Given the description of an element on the screen output the (x, y) to click on. 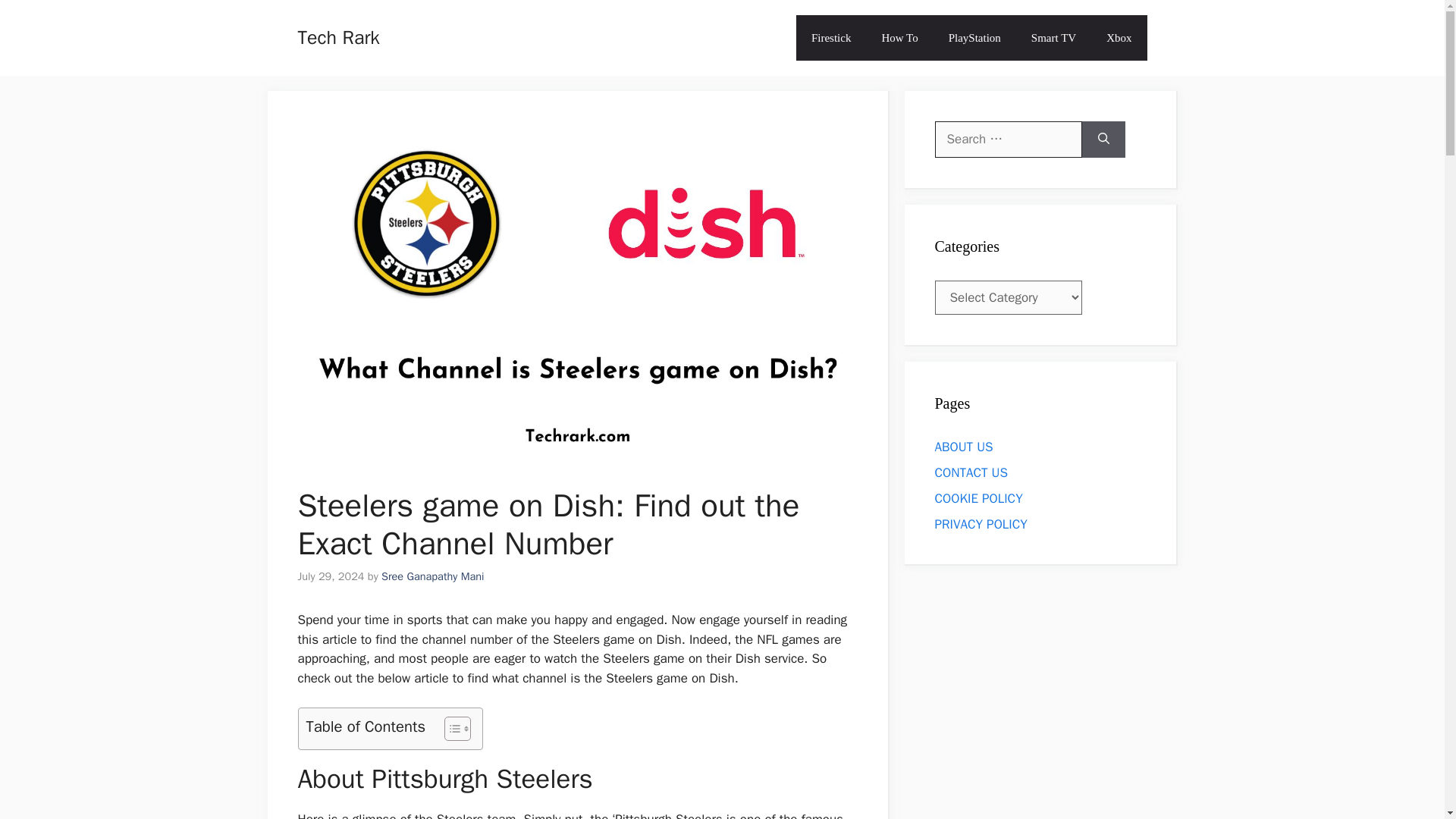
Firestick (831, 37)
PlayStation (974, 37)
CONTACT US (970, 471)
Tech Rark (337, 37)
View all posts by Sree Ganapathy Mani (432, 576)
Smart TV (1053, 37)
How To (899, 37)
Xbox (1118, 37)
Sree Ganapathy Mani (432, 576)
ABOUT US (963, 446)
COOKIE POLICY (978, 497)
PRIVACY POLICY (980, 523)
Search for: (1007, 139)
